Given the description of an element on the screen output the (x, y) to click on. 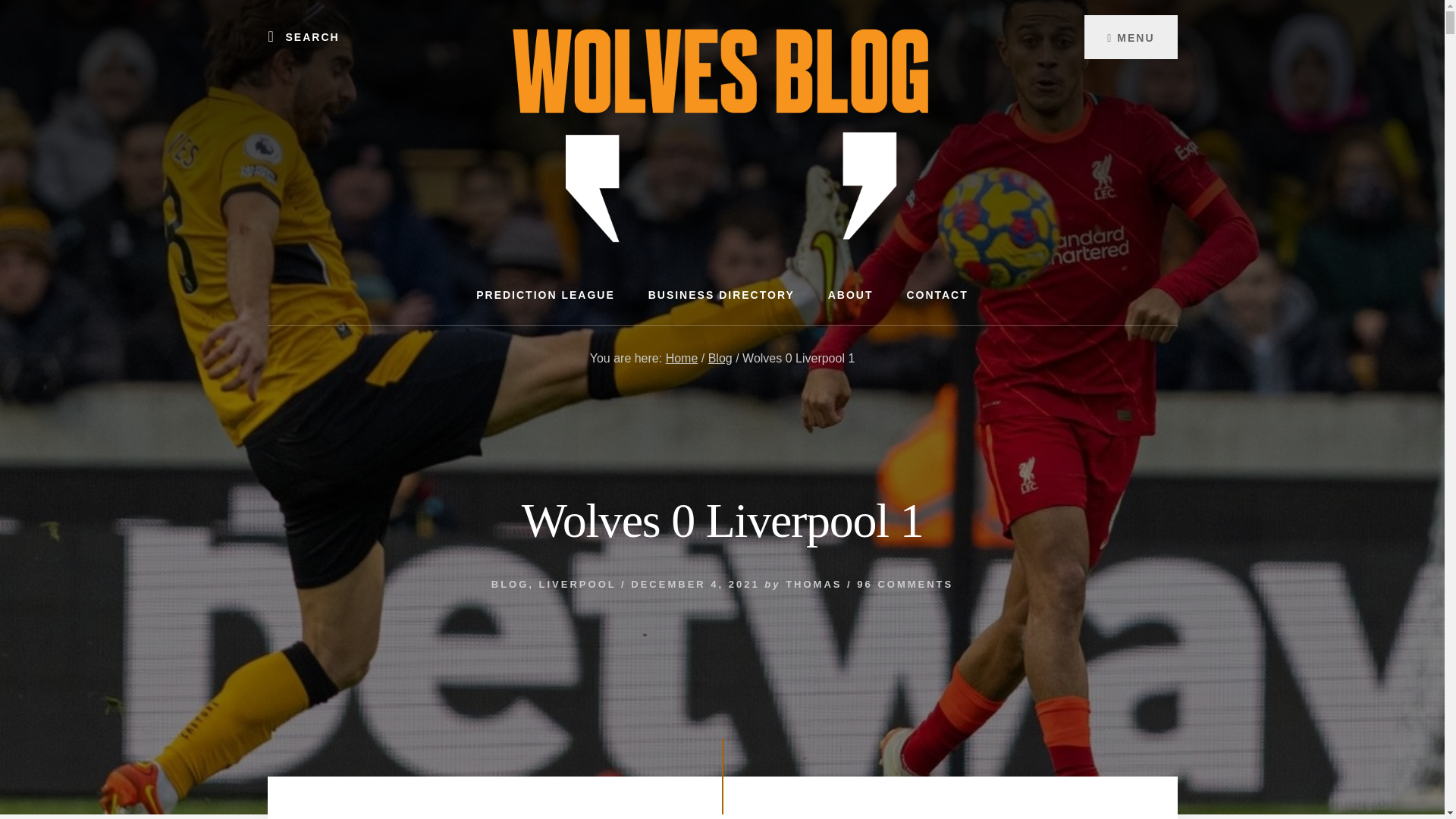
MENU (1130, 36)
CONTACT (936, 295)
96 COMMENTS (905, 583)
BUSINESS DIRECTORY (721, 295)
PREDICTION LEAGUE (545, 295)
Home (681, 358)
THOMAS (813, 583)
ABOUT (850, 295)
LIVERPOOL (576, 583)
Blog (719, 358)
BLOG (510, 583)
